Given the description of an element on the screen output the (x, y) to click on. 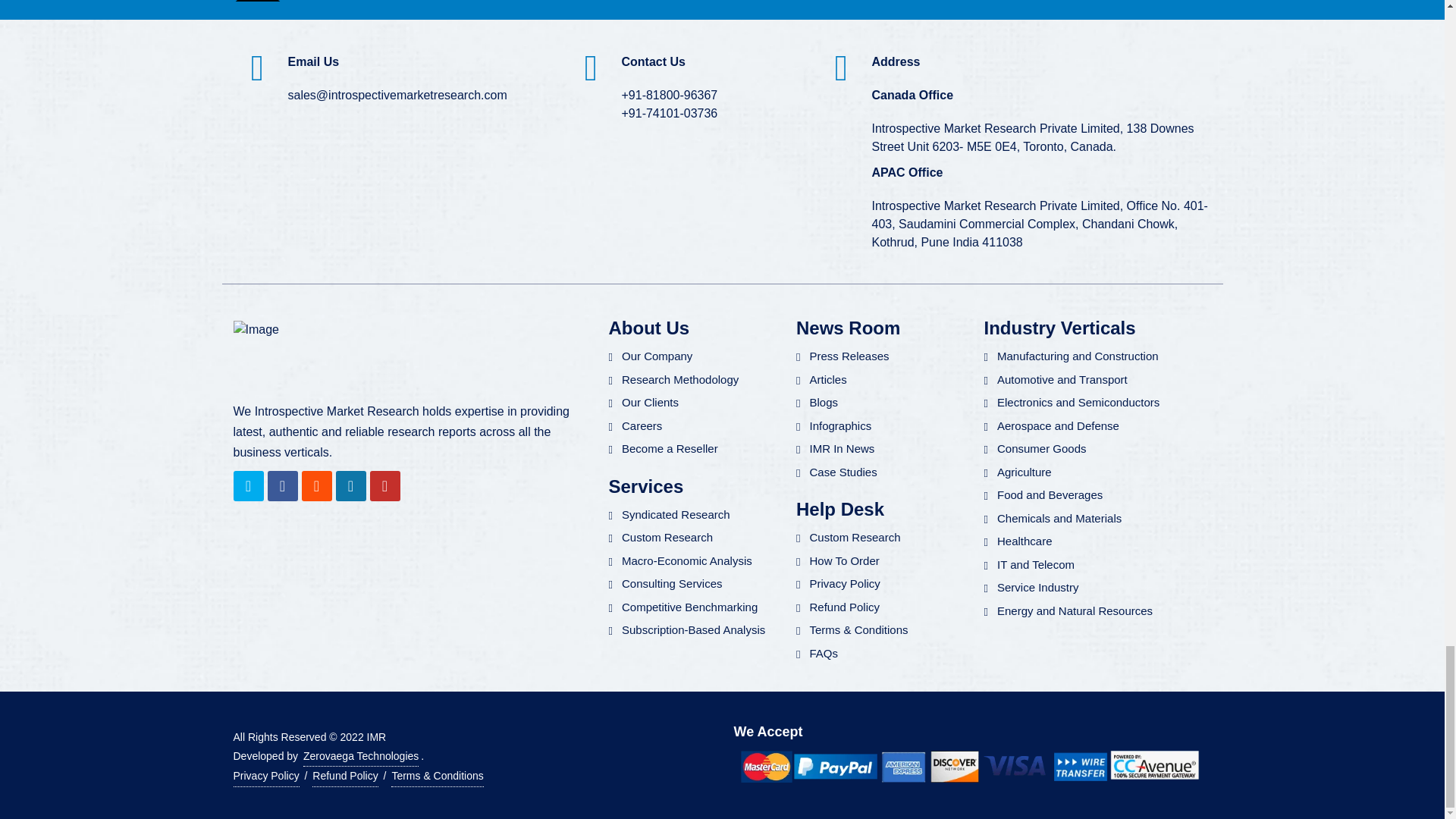
Facebook (281, 485)
Twitter (247, 485)
Linked In (349, 485)
Youtube (384, 485)
Blogger (316, 485)
